Given the description of an element on the screen output the (x, y) to click on. 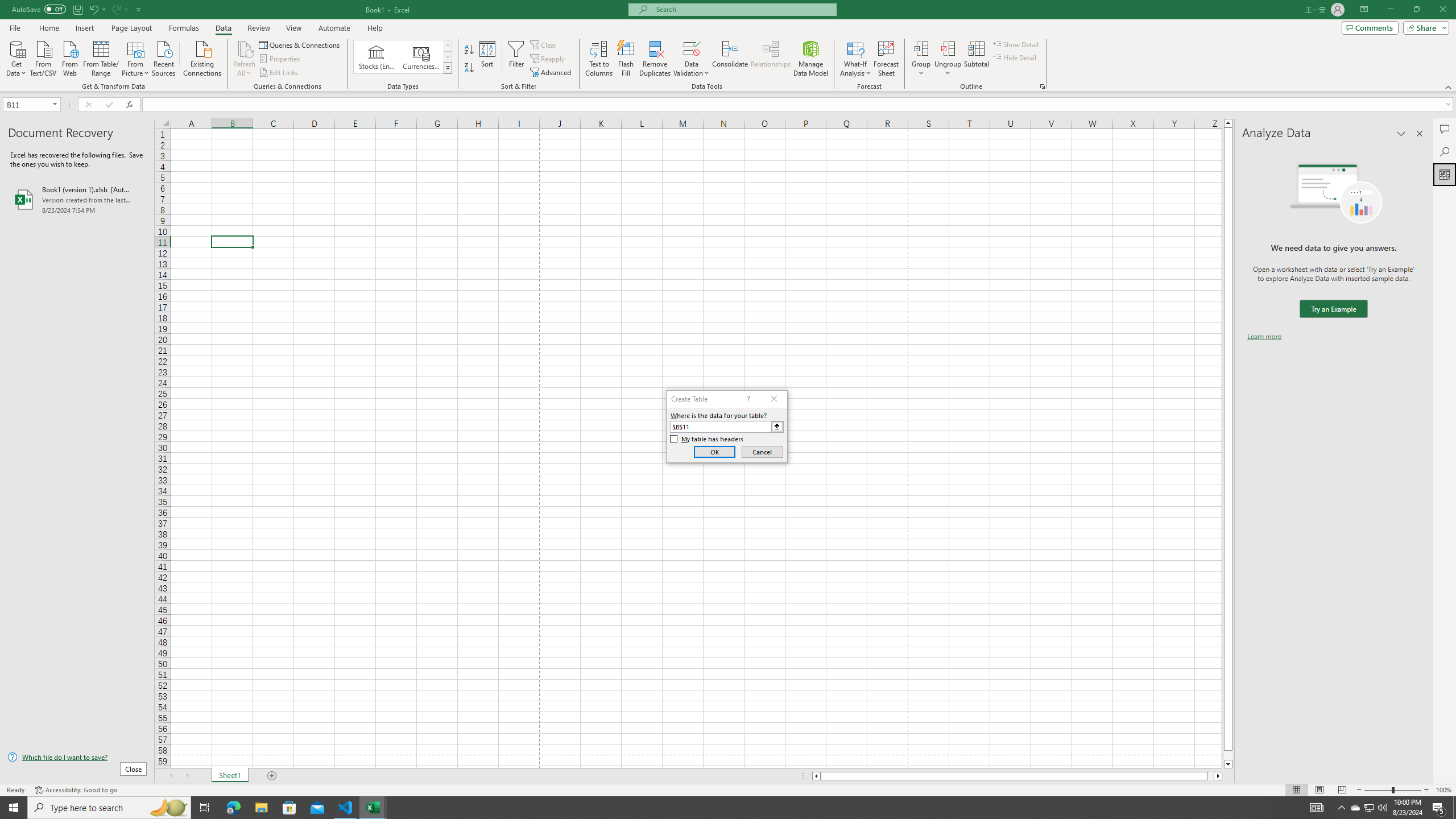
From Text/CSV (43, 57)
Quick Access Toolbar (77, 9)
Consolidate... (729, 58)
Page down (1228, 755)
Insert (83, 28)
Save (77, 9)
Page Break Preview (1342, 790)
Add Sheet (272, 775)
Review (258, 28)
Row up (448, 45)
Open (54, 104)
Group... (921, 58)
Zoom (1392, 790)
Sort Z to A (469, 67)
System (6, 6)
